Given the description of an element on the screen output the (x, y) to click on. 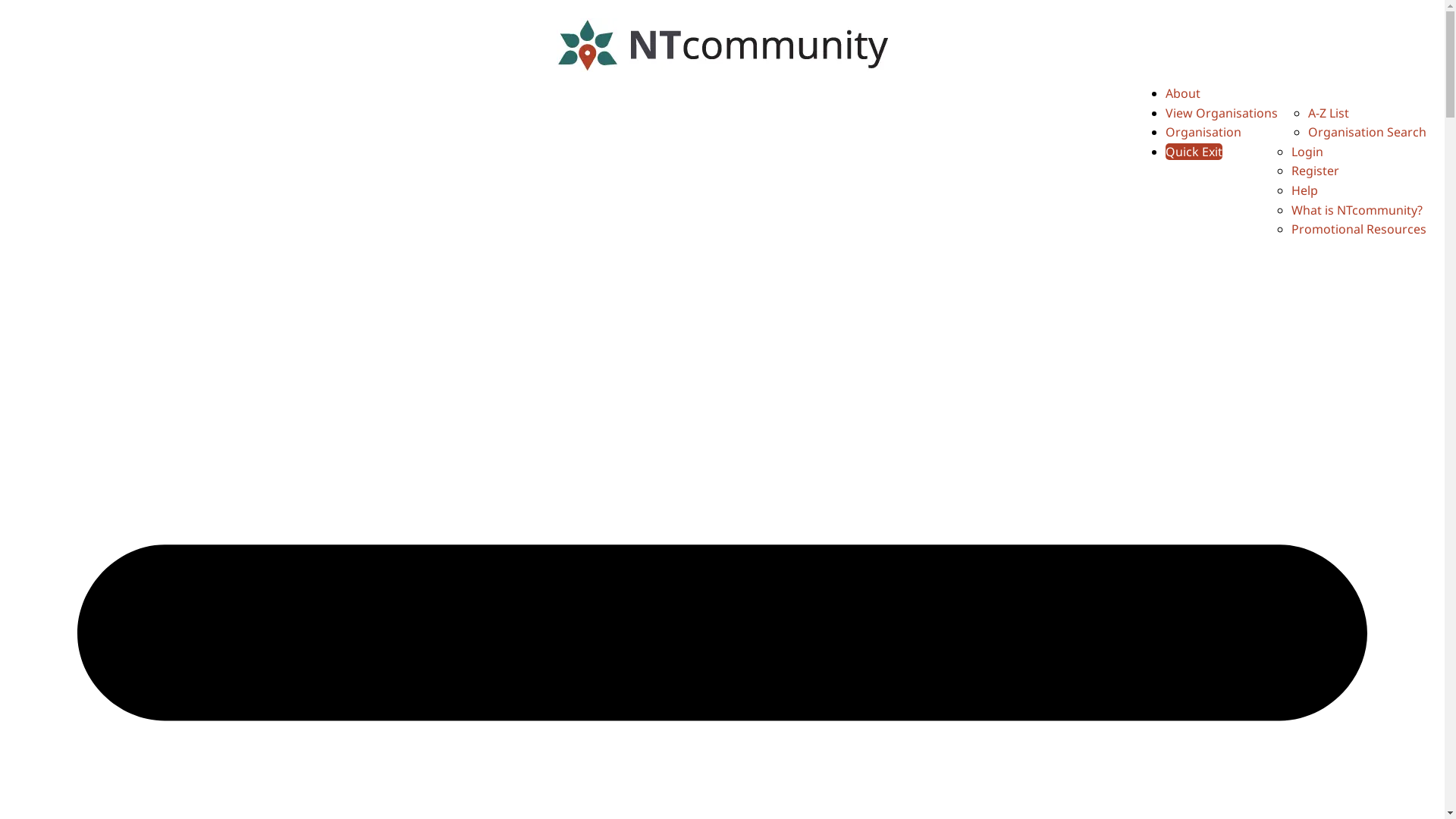
Organisation Element type: text (1203, 131)
Promotional Resources Element type: text (1358, 228)
Organisation Search Element type: text (1367, 131)
Help Element type: text (1304, 190)
View Organisations Element type: text (1221, 112)
Register Element type: text (1315, 170)
About Element type: text (1182, 92)
What is NTcommunity? Element type: text (1356, 209)
Login Element type: text (1307, 151)
Quick Exit Element type: text (1193, 151)
A-Z List Element type: text (1328, 112)
